Given the description of an element on the screen output the (x, y) to click on. 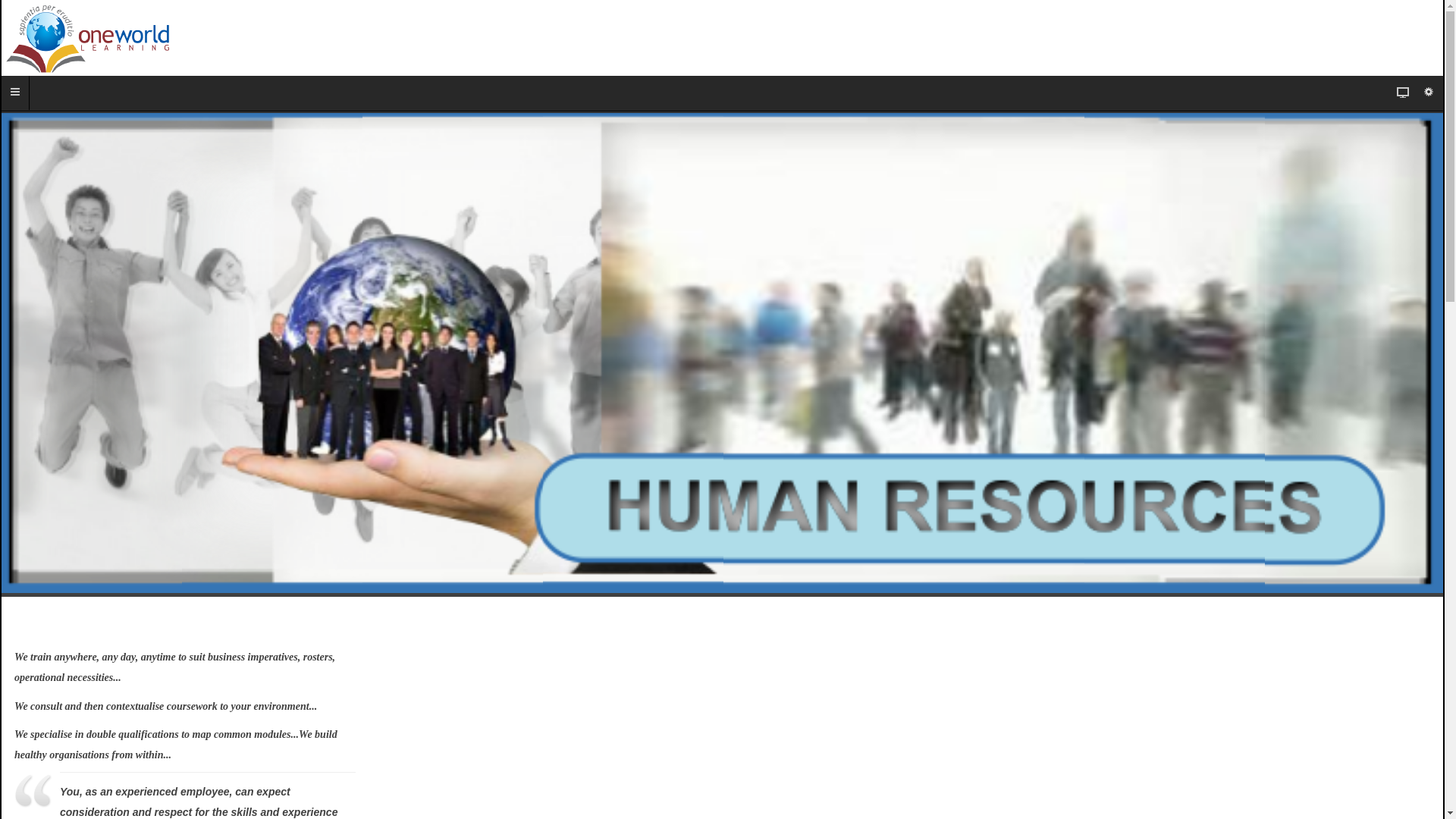
082018edit-FM.png Element type: hover (722, 352)
